Given the description of an element on the screen output the (x, y) to click on. 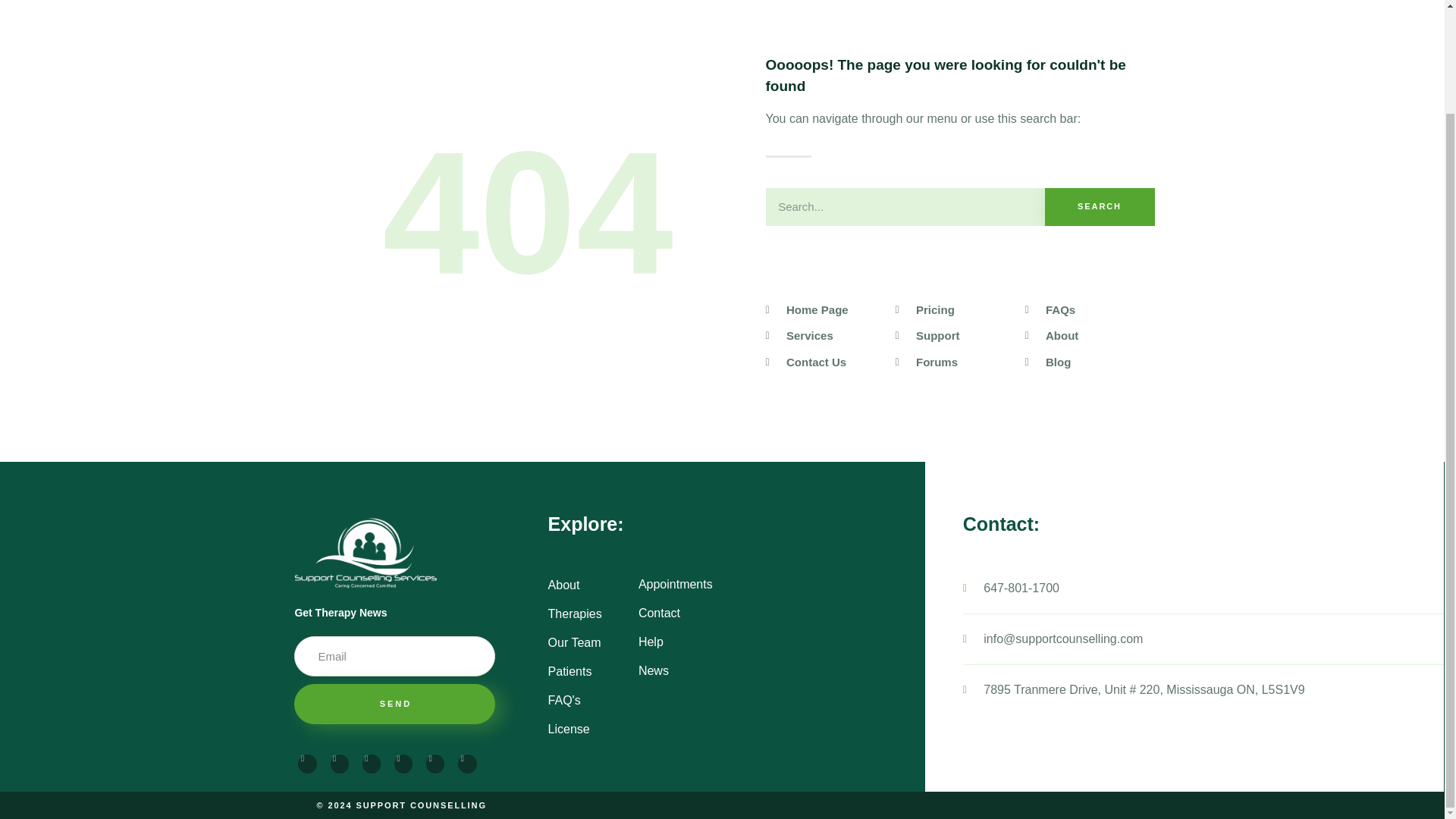
SEND (394, 703)
Search (1099, 207)
Search (905, 207)
SEARCH (1099, 207)
